Given the description of an element on the screen output the (x, y) to click on. 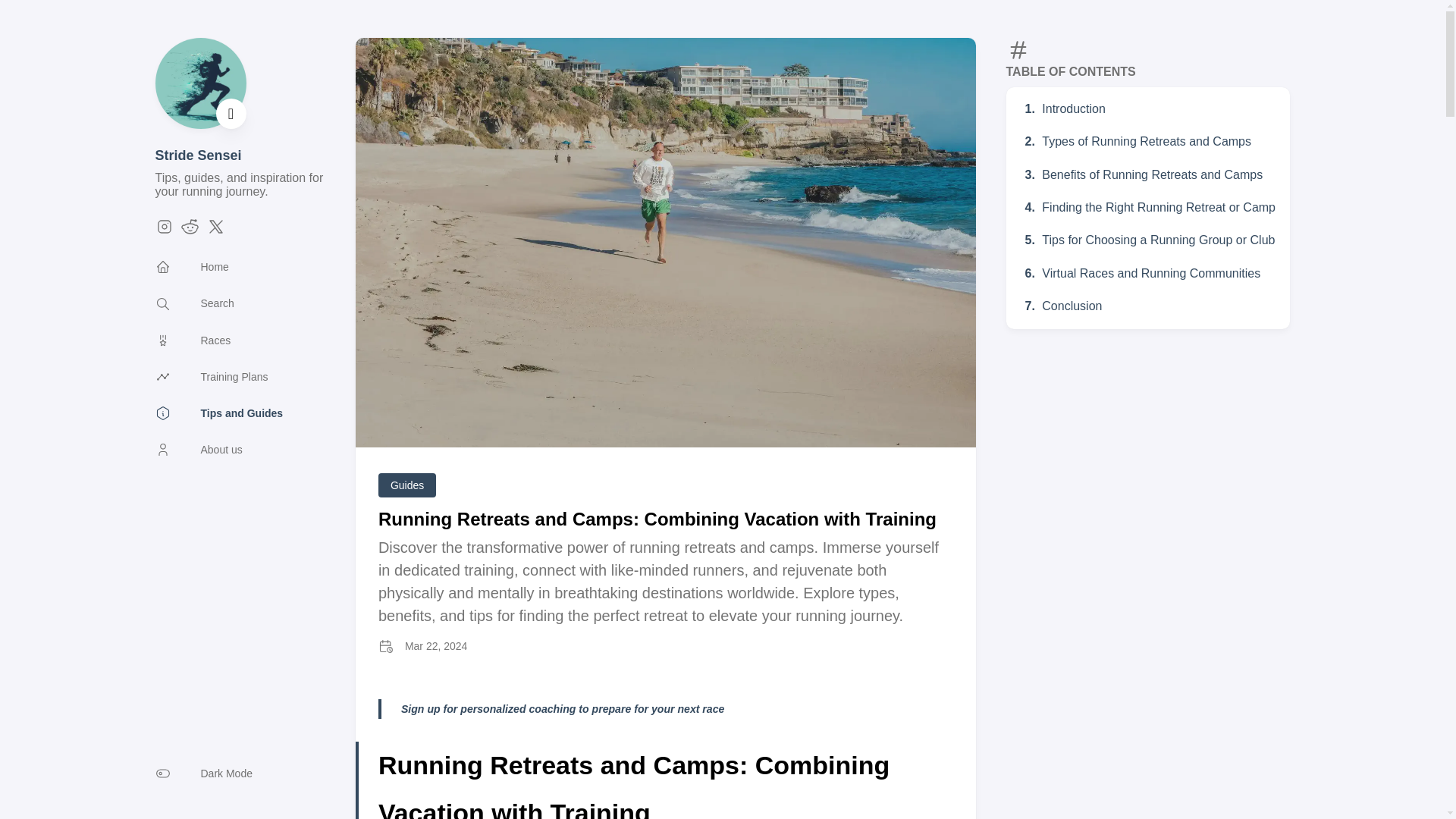
Stride Sensei (197, 155)
Training Plans (210, 375)
Guides (406, 485)
Benefits of Running Retreats and Camps (1144, 174)
Tips and Guides (218, 412)
Home (191, 267)
Reddit (189, 231)
Races (192, 339)
Introduction (1065, 108)
Tips for Choosing a Running Group or Club (1150, 239)
Instagram (163, 231)
Virtual Races and Running Communities (1142, 273)
Twitter (215, 231)
About us (197, 448)
